Given the description of an element on the screen output the (x, y) to click on. 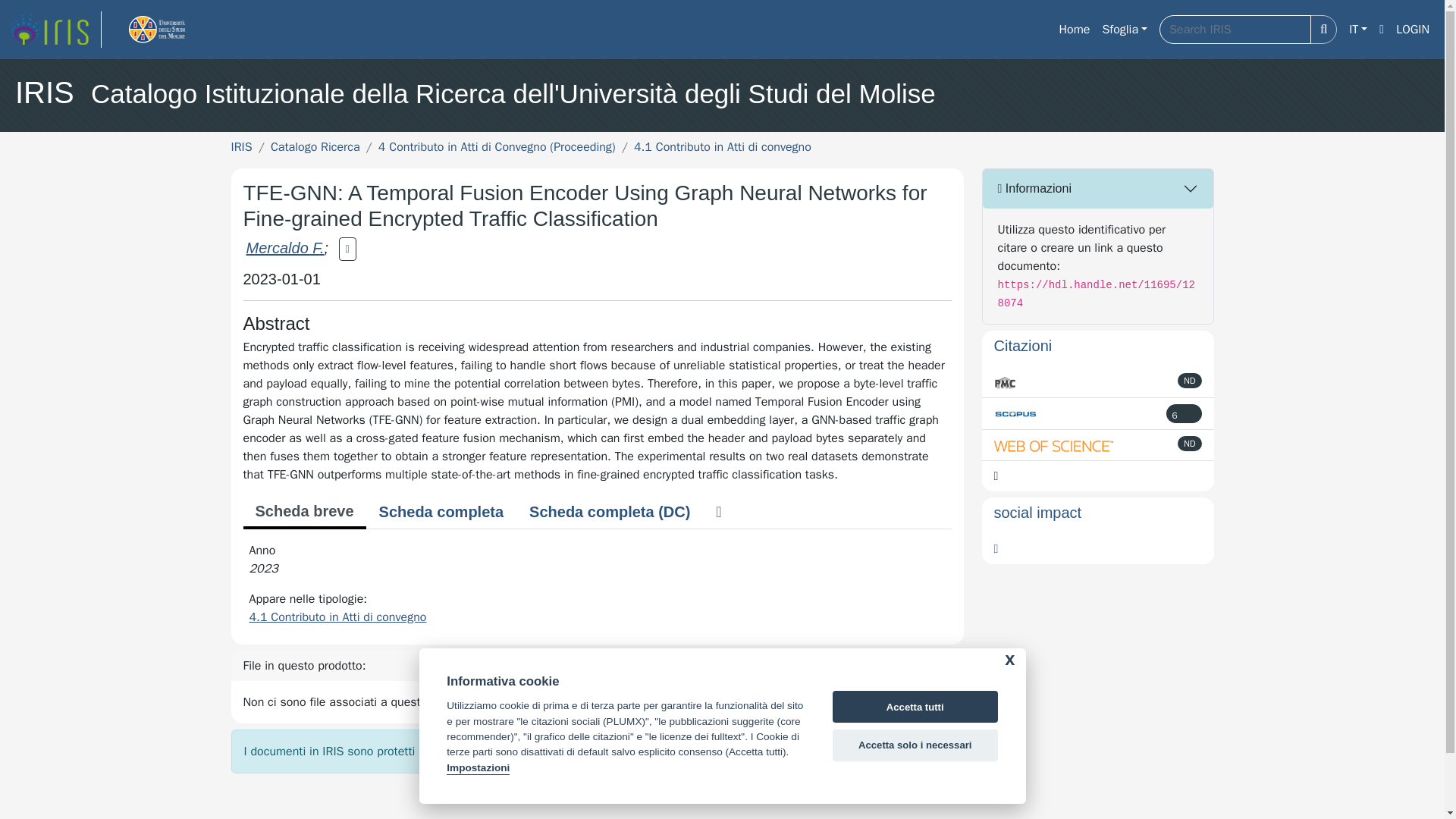
Home (1074, 29)
Mercaldo F. (284, 247)
Scheda breve (304, 512)
LOGIN (1412, 29)
 Informazioni (1097, 188)
Catalogo Ricerca (314, 146)
IT (1357, 29)
4.1 Contributo in Atti di convegno (721, 146)
IRIS (240, 146)
Scheda completa (441, 511)
